Given the description of an element on the screen output the (x, y) to click on. 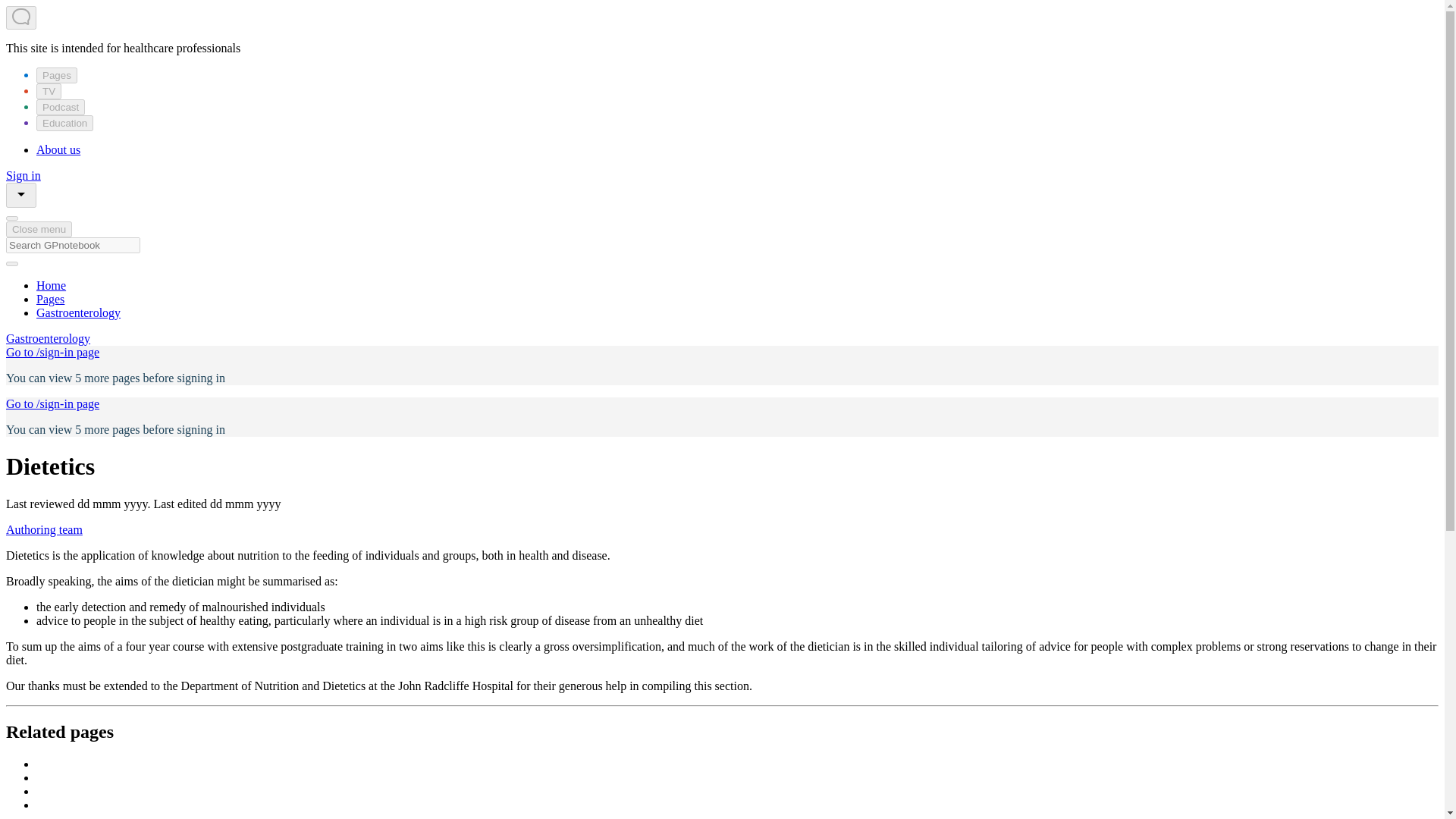
TV (48, 91)
Gastroenterology (47, 338)
Sign in (22, 174)
Close menu (38, 229)
Education (64, 123)
Gastroenterology (78, 312)
Authoring team (43, 529)
Pages (56, 75)
Podcast (60, 107)
About us (58, 149)
Pages (50, 298)
Home (50, 285)
